Given the description of an element on the screen output the (x, y) to click on. 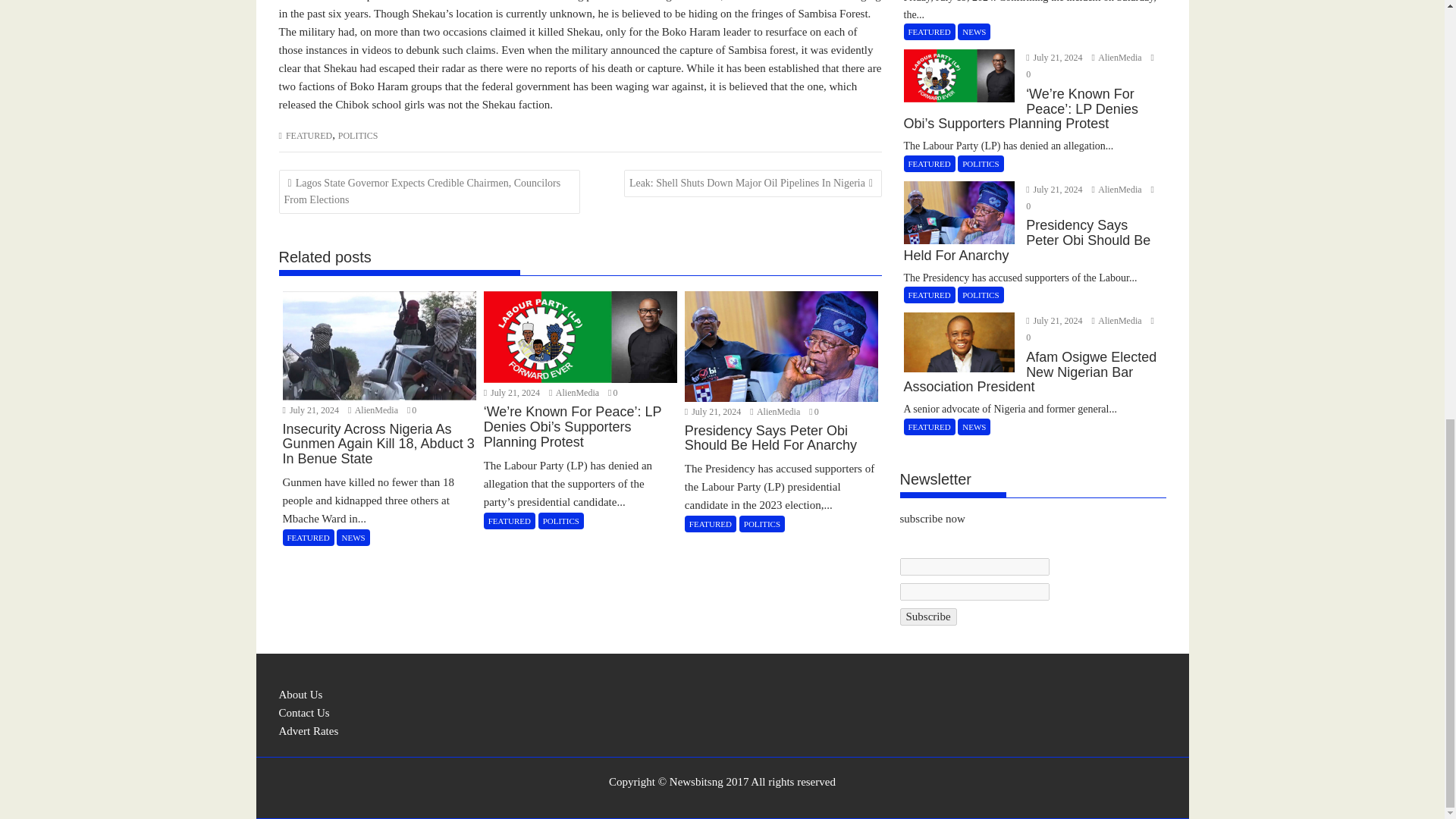
POLITICS (357, 135)
Subscribe (927, 616)
AlienMedia (373, 409)
AlienMedia (574, 392)
AlienMedia (775, 411)
FEATURED (308, 135)
